Given the description of an element on the screen output the (x, y) to click on. 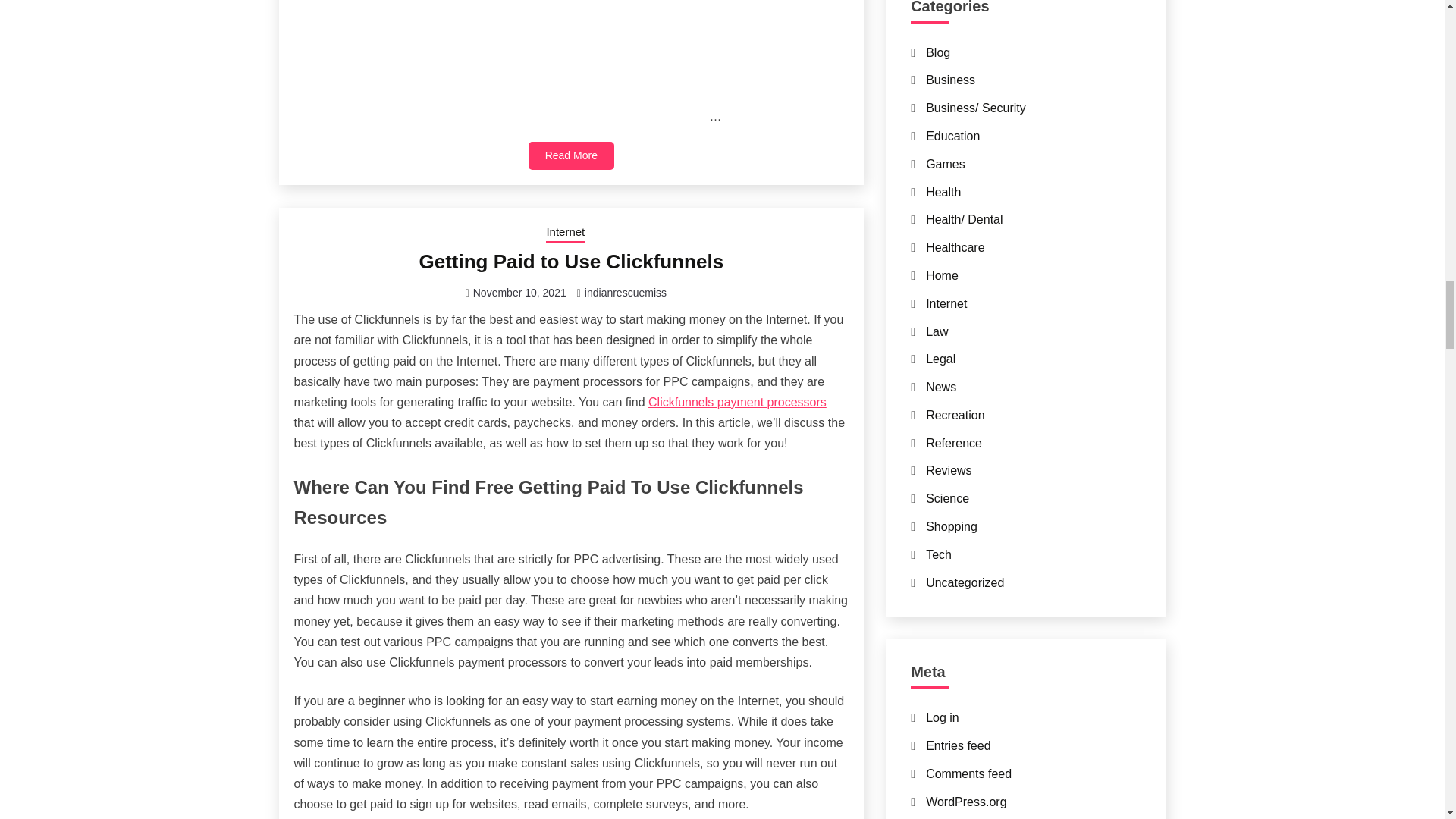
Read More (571, 155)
November 10, 2021 (519, 292)
Internet (565, 233)
Clickfunnels payment processors (737, 401)
Getting Paid to Use Clickfunnels (571, 261)
indianrescuemiss (625, 292)
